Given the description of an element on the screen output the (x, y) to click on. 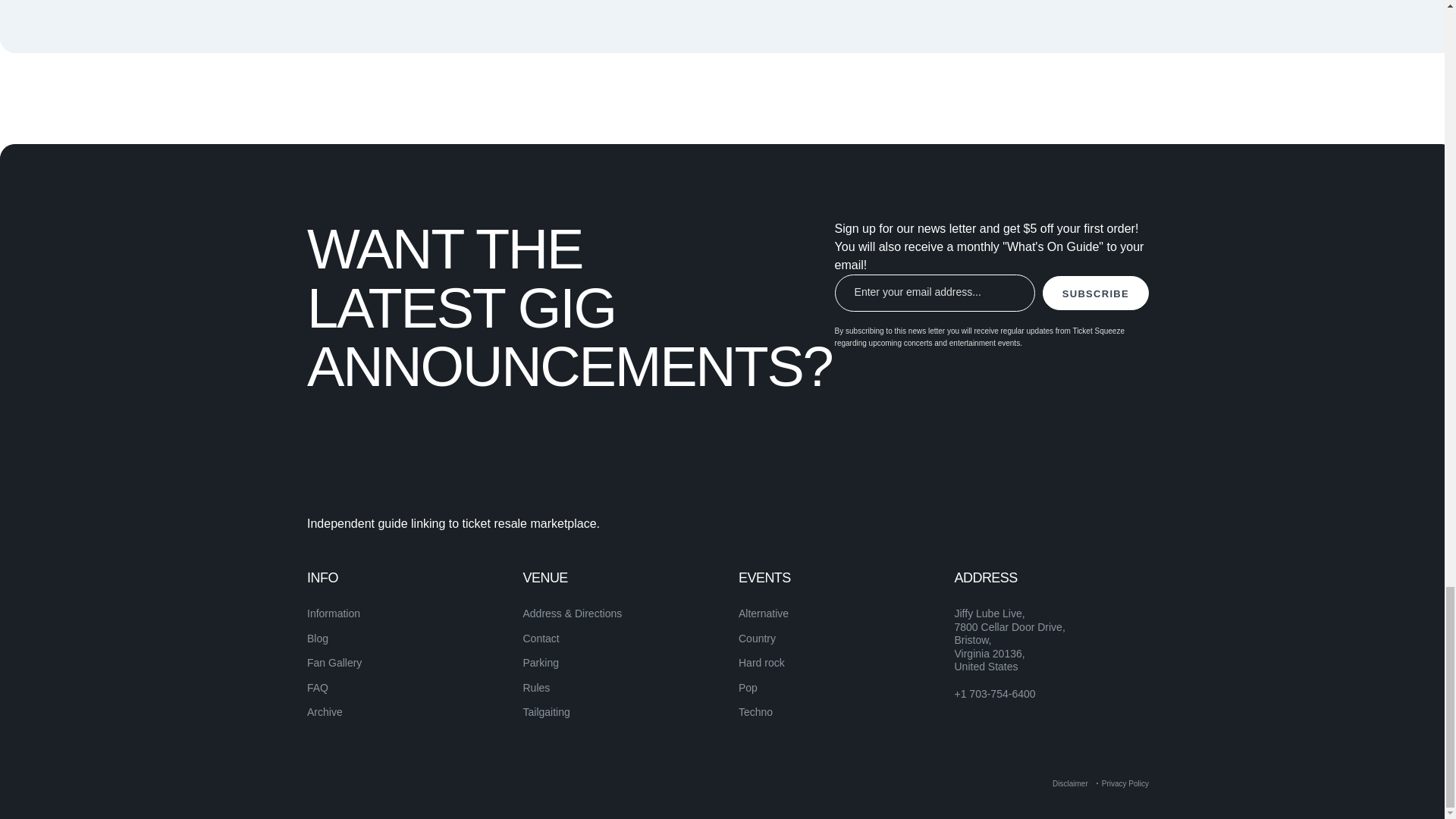
Information (333, 613)
Alternative (763, 613)
Tailgaiting (546, 711)
Hard rock (761, 662)
Parking (540, 662)
Techno (755, 711)
Rules (536, 687)
Archive (324, 711)
Blog (318, 638)
FAQ (318, 687)
Contact (540, 638)
Country (757, 638)
Disclaimer (1069, 783)
Pop (747, 687)
Fan Gallery (334, 662)
